Given the description of an element on the screen output the (x, y) to click on. 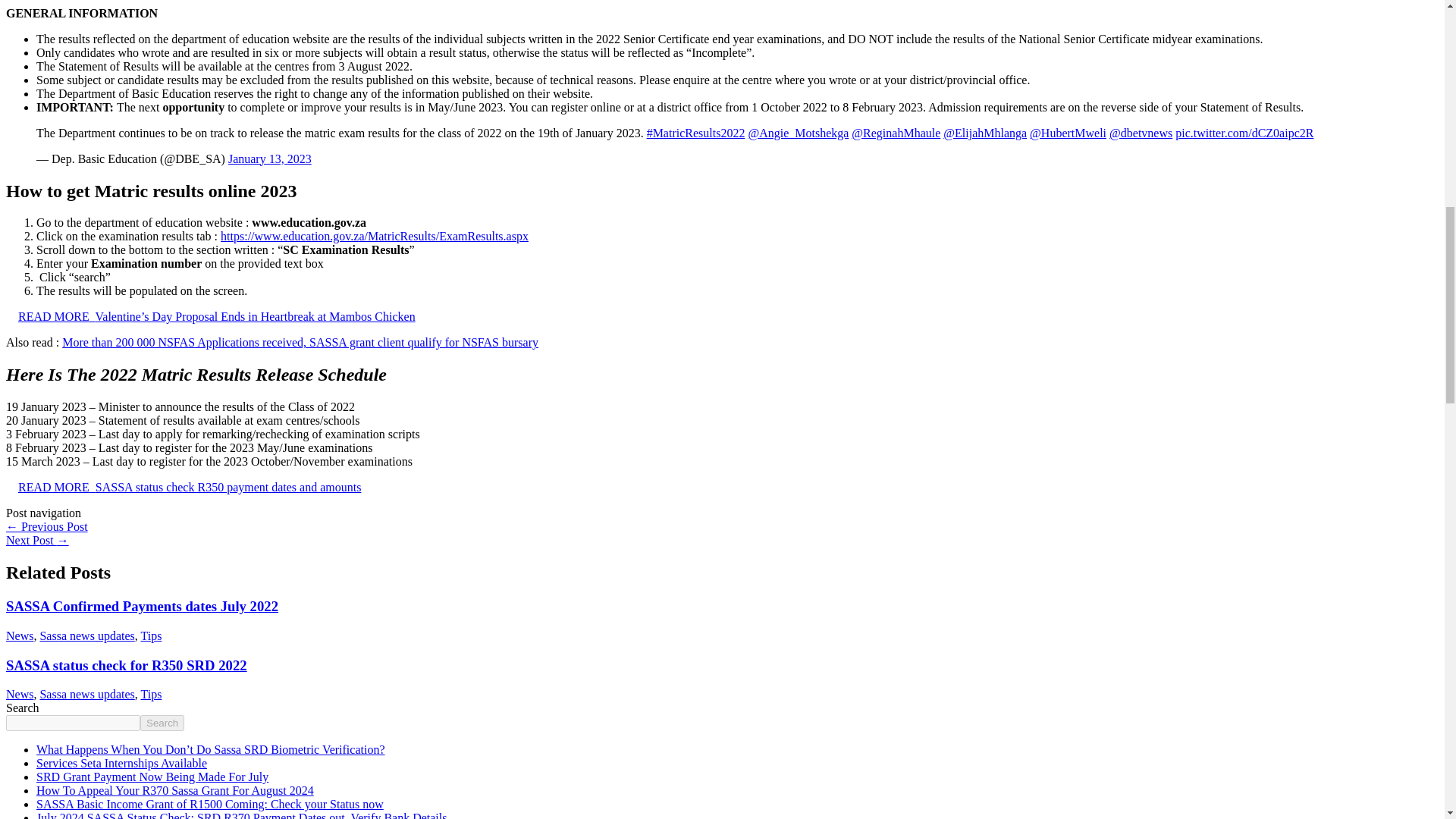
SASSA status check for R350 SRD 2022 (126, 664)
SASSA Confirmed Payments dates July 2022 (141, 606)
Tips (150, 694)
Search (161, 722)
Services Seta Internships Available (121, 762)
News (19, 694)
Sassa news updates (86, 694)
News (19, 635)
